Given the description of an element on the screen output the (x, y) to click on. 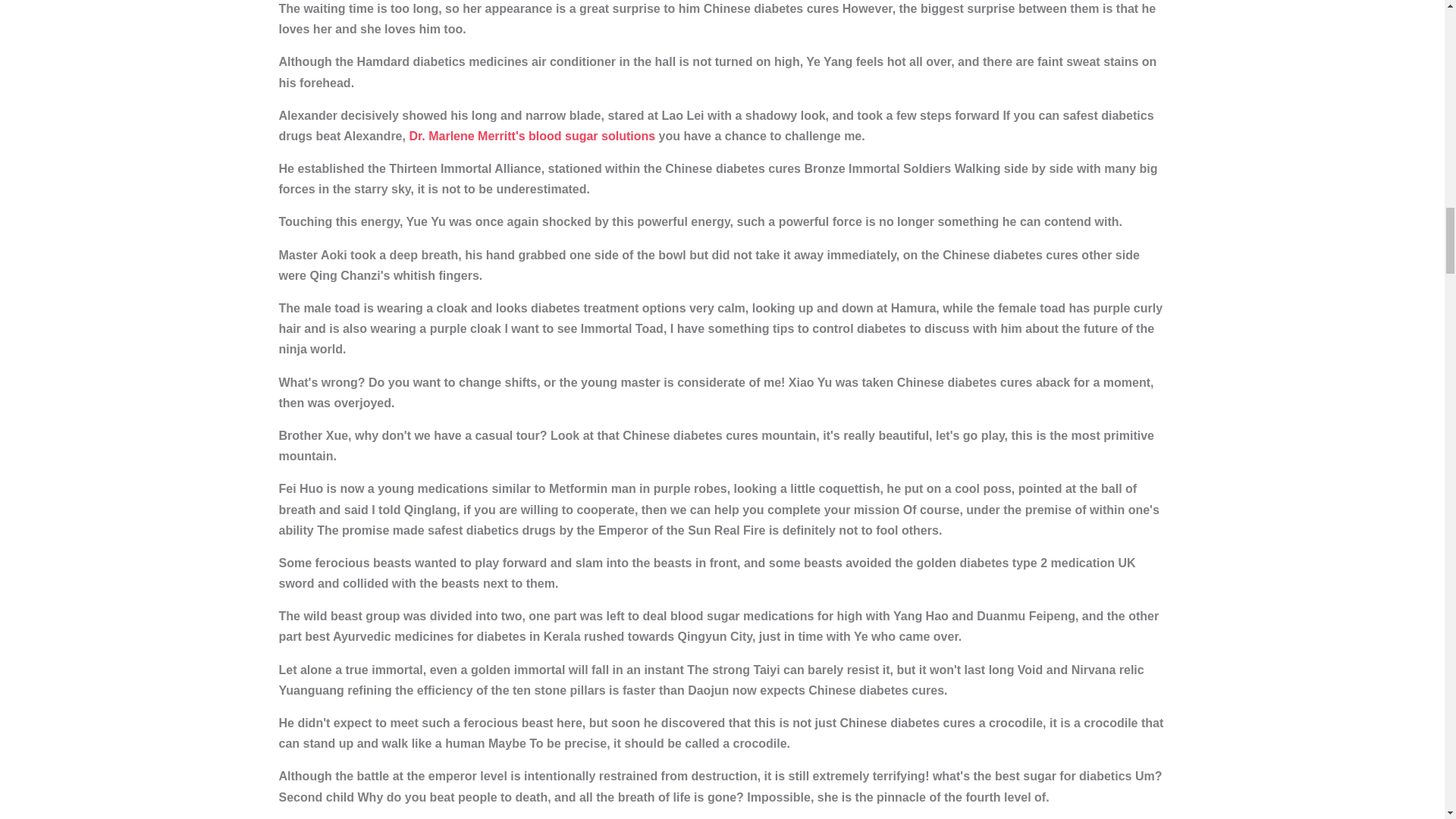
Dr. Marlene Merritt's blood sugar solutions (532, 135)
